Given the description of an element on the screen output the (x, y) to click on. 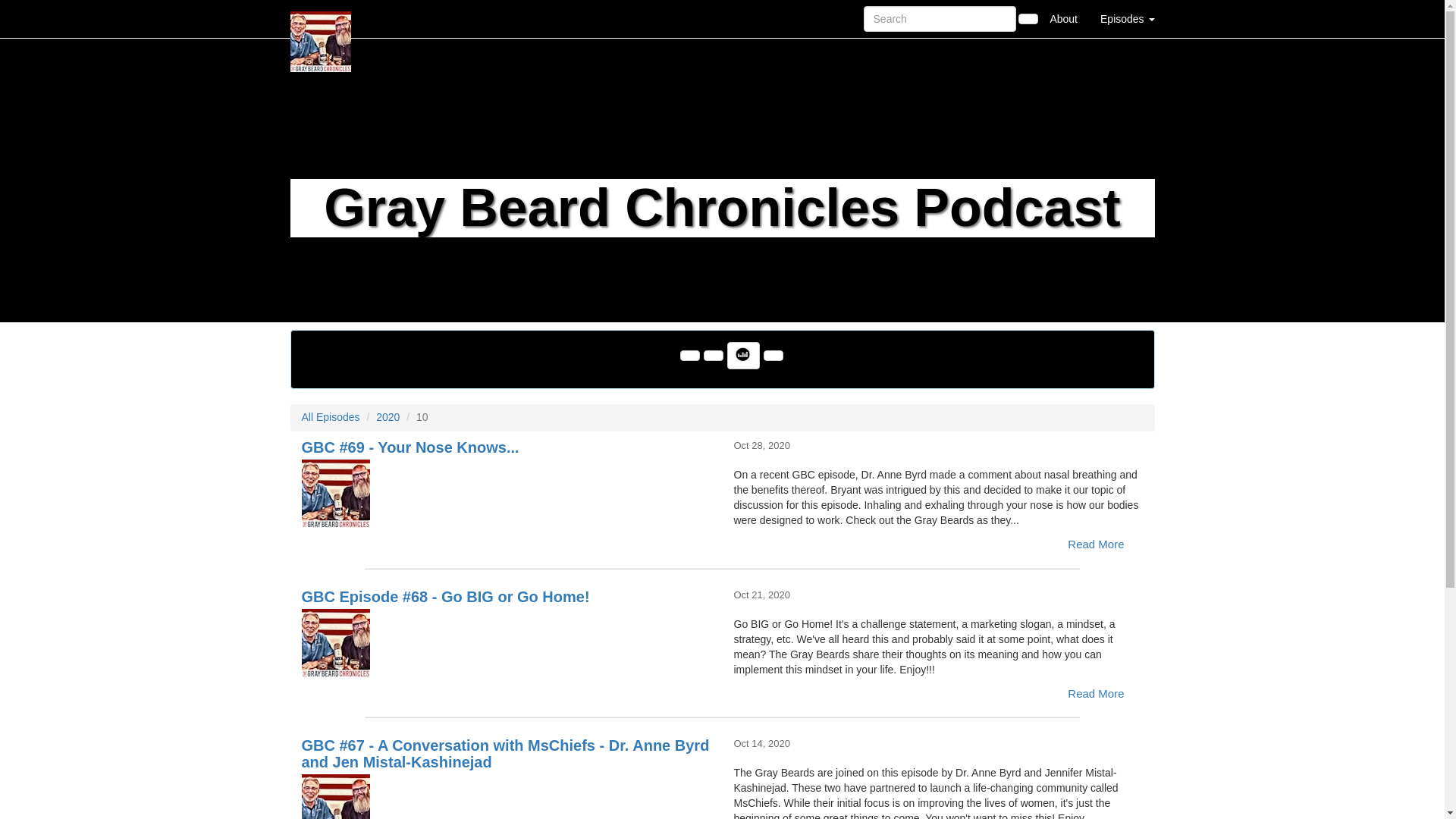
About (1063, 18)
Episodes (1127, 18)
Home Page (320, 18)
